Given the description of an element on the screen output the (x, y) to click on. 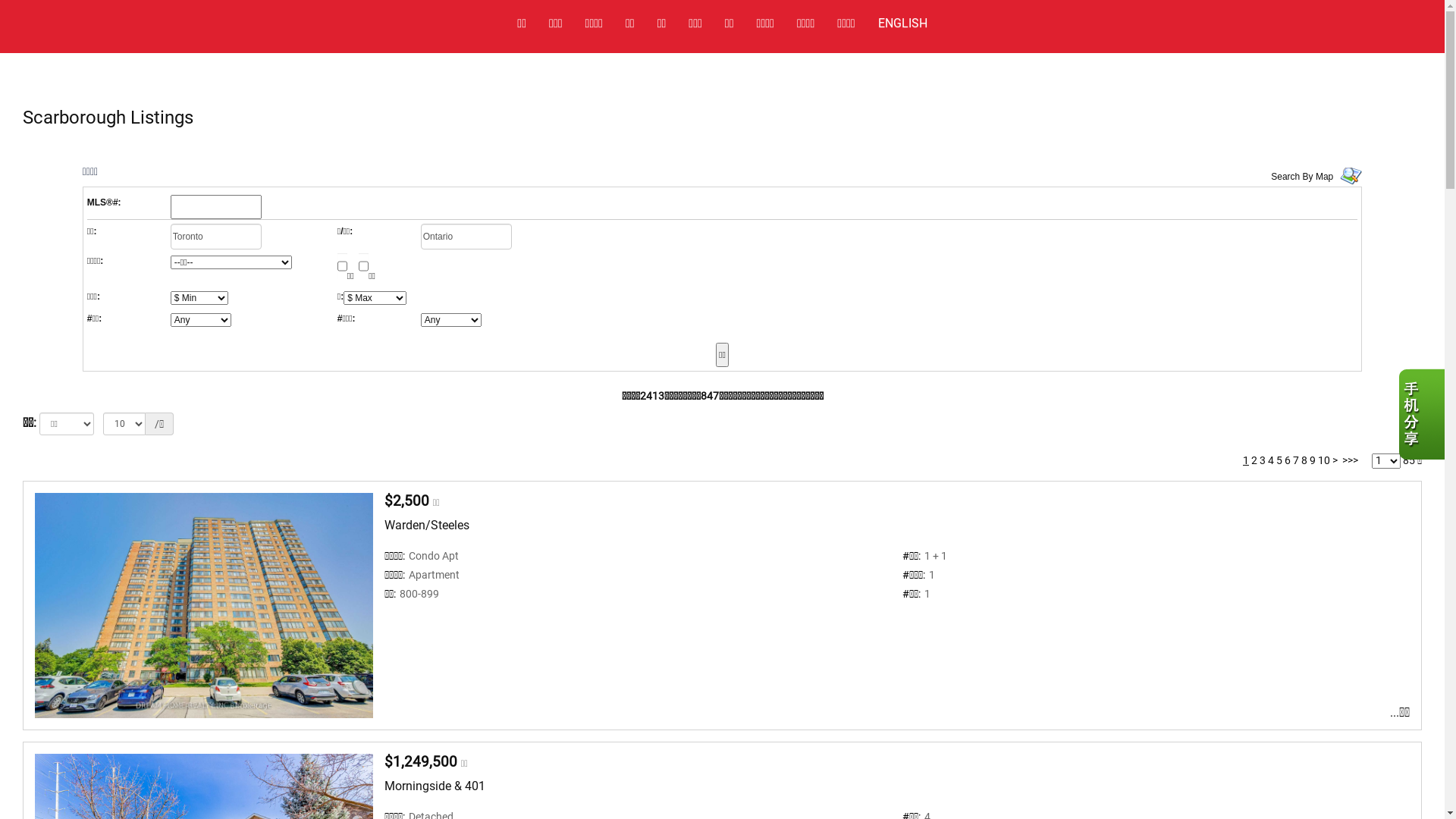
9 Element type: text (1312, 460)
>>> Element type: text (1350, 460)
$1,249,500 Element type: text (420, 761)
ENGLISH Element type: text (902, 18)
1 Element type: text (1245, 460)
$2,500 Element type: text (406, 500)
4 Element type: text (1270, 460)
8 Element type: text (1304, 460)
Search By Map Element type: text (1301, 176)
5 Element type: text (1279, 460)
3 Element type: text (1262, 460)
10 Element type: text (1323, 460)
6 Element type: text (1287, 460)
> Element type: text (1334, 460)
2 Element type: text (1254, 460)
7 Element type: text (1295, 460)
